Given the description of an element on the screen output the (x, y) to click on. 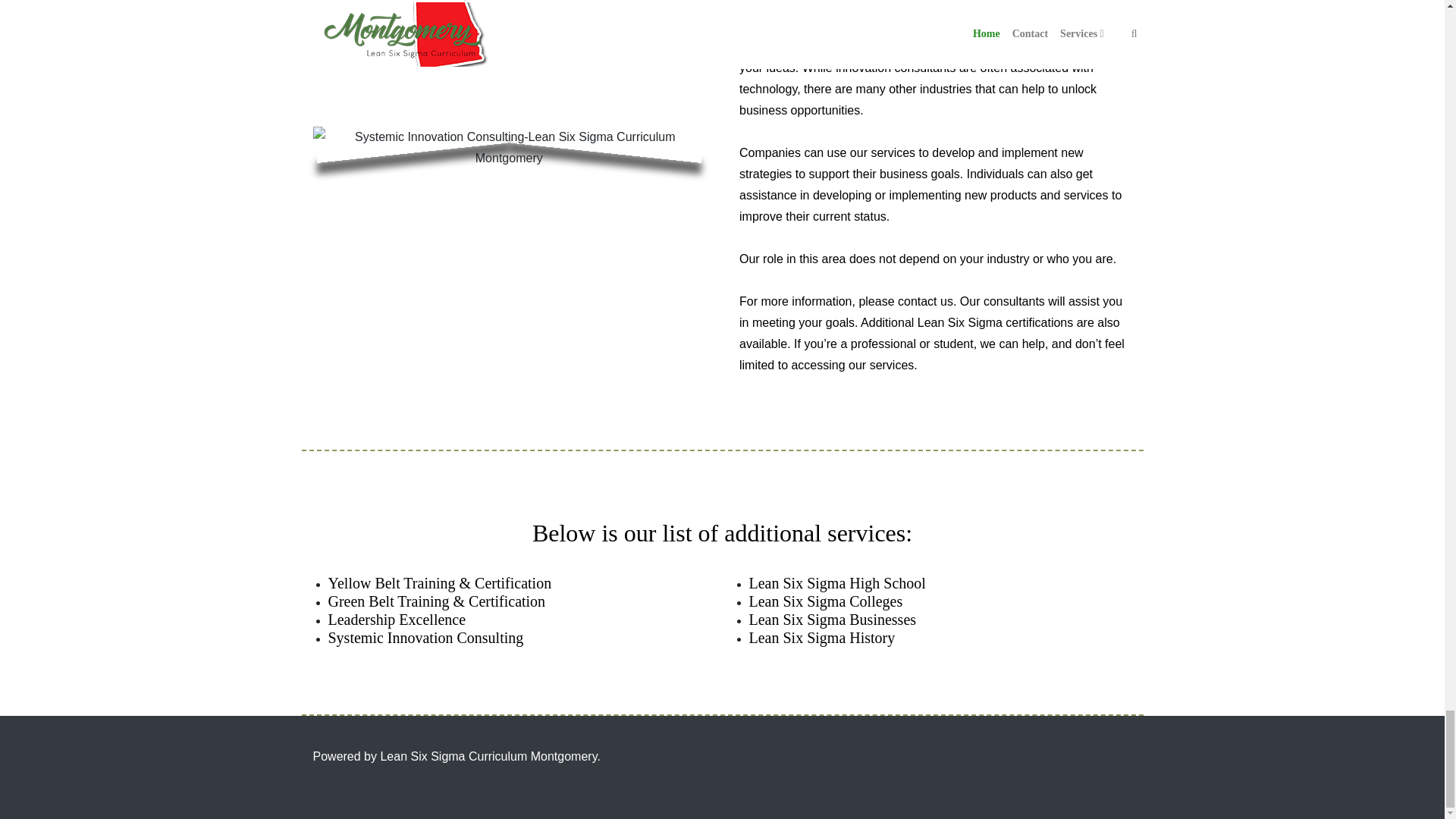
Lean Six Sigma History (822, 637)
Lean Six Sigma Colleges (825, 600)
Lean Six Sigma High School (837, 582)
Leadership Excellence (396, 619)
Systemic Innovation Consulting (424, 637)
Lean Six Sigma Businesses (833, 619)
